Given the description of an element on the screen output the (x, y) to click on. 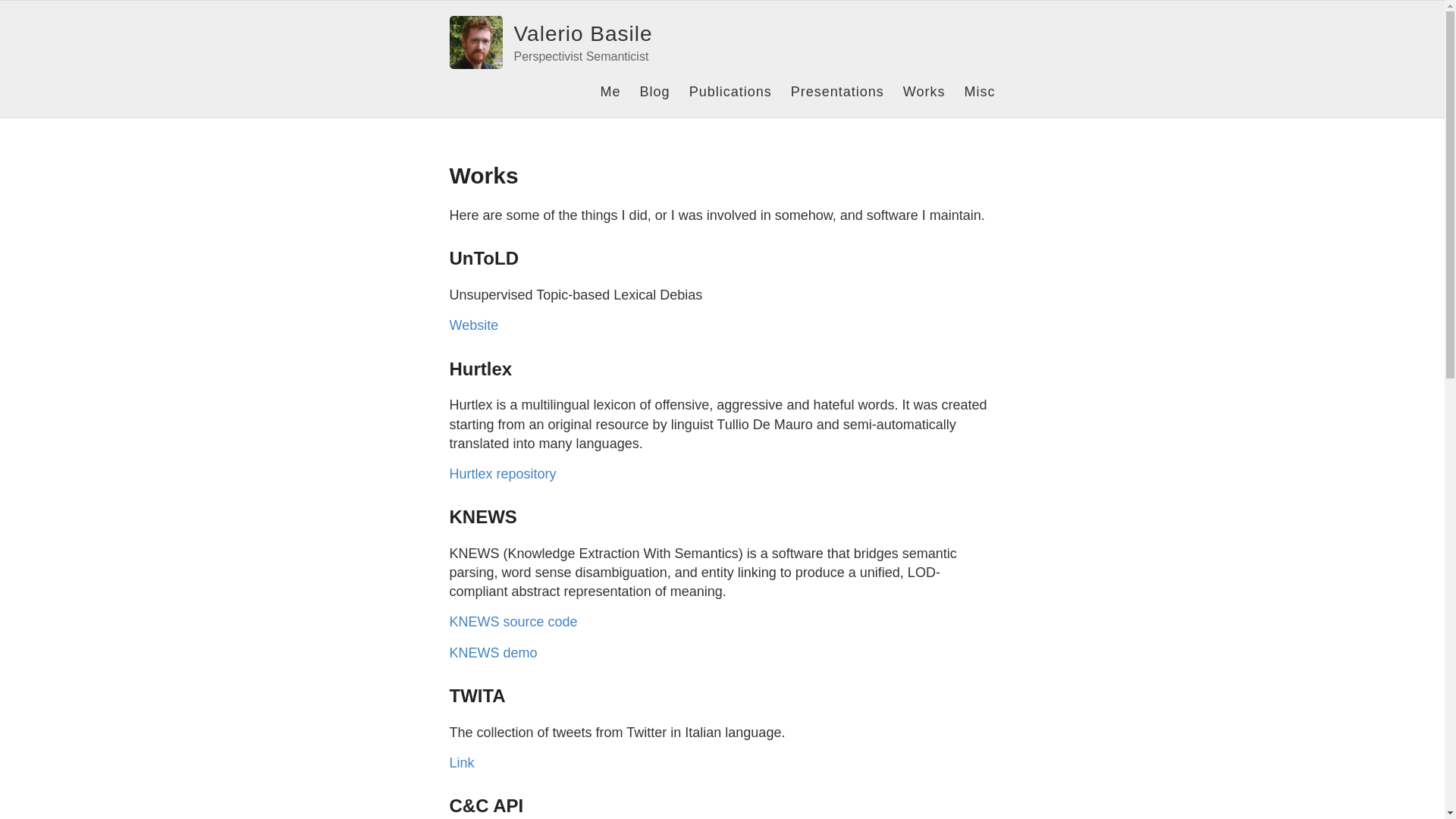
Me (610, 91)
Presentations (836, 91)
KNEWS source code (512, 621)
Publications (729, 91)
Link (461, 762)
Valerio Basile (582, 33)
Misc (979, 91)
KNEWS demo (492, 652)
Website (472, 324)
Blog (654, 91)
